Given the description of an element on the screen output the (x, y) to click on. 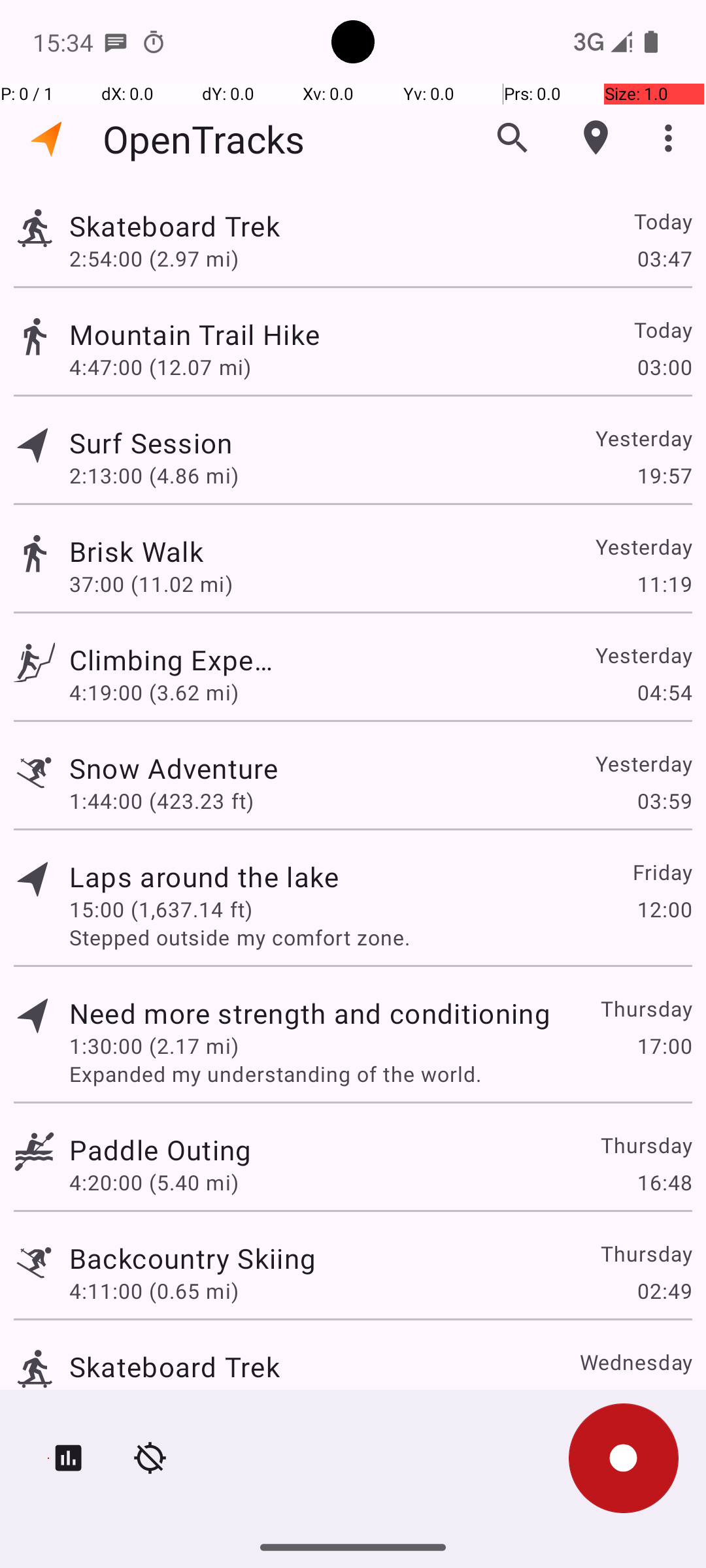
Skateboard Trek Element type: android.widget.TextView (203, 225)
2:54:00 (2.97 mi) Element type: android.widget.TextView (160, 258)
03:47 Element type: android.widget.TextView (664, 258)
Mountain Trail Hike Element type: android.widget.TextView (309, 333)
4:47:00 (12.07 mi) Element type: android.widget.TextView (159, 366)
03:00 Element type: android.widget.TextView (664, 366)
Surf Session Element type: android.widget.TextView (159, 442)
2:13:00 (4.86 mi) Element type: android.widget.TextView (153, 475)
19:57 Element type: android.widget.TextView (664, 475)
Brisk Walk Element type: android.widget.TextView (192, 550)
37:00 (11.02 mi) Element type: android.widget.TextView (153, 583)
11:19 Element type: android.widget.TextView (664, 583)
Climbing Expedition Element type: android.widget.TextView (174, 659)
4:19:00 (3.62 mi) Element type: android.widget.TextView (153, 692)
04:54 Element type: android.widget.TextView (664, 692)
Snow Adventure Element type: android.widget.TextView (173, 767)
1:44:00 (423.23 ft) Element type: android.widget.TextView (161, 800)
03:59 Element type: android.widget.TextView (664, 800)
Laps around the lake Element type: android.widget.TextView (203, 876)
15:00 (1,637.14 ft) Element type: android.widget.TextView (160, 909)
Stepped outside my comfort zone. Element type: android.widget.TextView (380, 937)
Need more strength and conditioning Element type: android.widget.TextView (309, 1012)
1:30:00 (2.17 mi) Element type: android.widget.TextView (153, 1045)
Expanded my understanding of the world. Element type: android.widget.TextView (380, 1073)
Paddle Outing Element type: android.widget.TextView (159, 1149)
4:20:00 (5.40 mi) Element type: android.widget.TextView (153, 1182)
16:48 Element type: android.widget.TextView (664, 1182)
Backcountry Skiing Element type: android.widget.TextView (192, 1257)
4:11:00 (0.65 mi) Element type: android.widget.TextView (153, 1290)
02:49 Element type: android.widget.TextView (664, 1290)
4:39:00 (7.04 mi) Element type: android.widget.TextView (153, 1399)
12:40 Element type: android.widget.TextView (664, 1399)
